Given the description of an element on the screen output the (x, y) to click on. 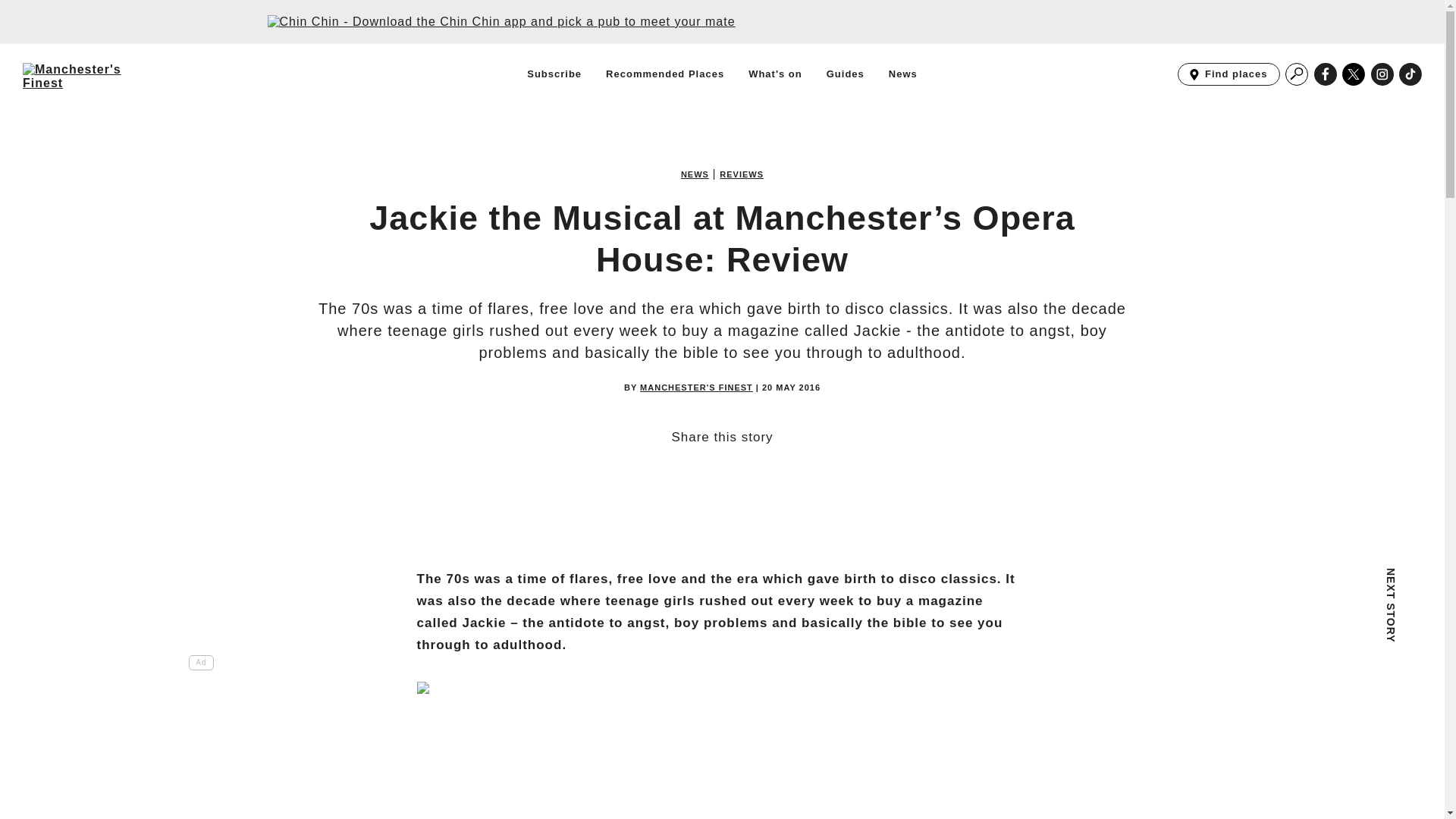
REVIEWS (740, 174)
Go to Manchester's Finest Facebook page (1325, 74)
Go to Manchester's Finest X profile (1353, 74)
Go to Manchester's Finest TikTok profile (1410, 74)
NEXT STORY (1297, 589)
Go to Manchester's Finest X profile (1353, 74)
MANCHESTER'S FINEST (696, 387)
What's on (775, 73)
Search Manchester's Finest (1296, 74)
Go to Manchester's Finest TikTok profile (1410, 74)
